Given the description of an element on the screen output the (x, y) to click on. 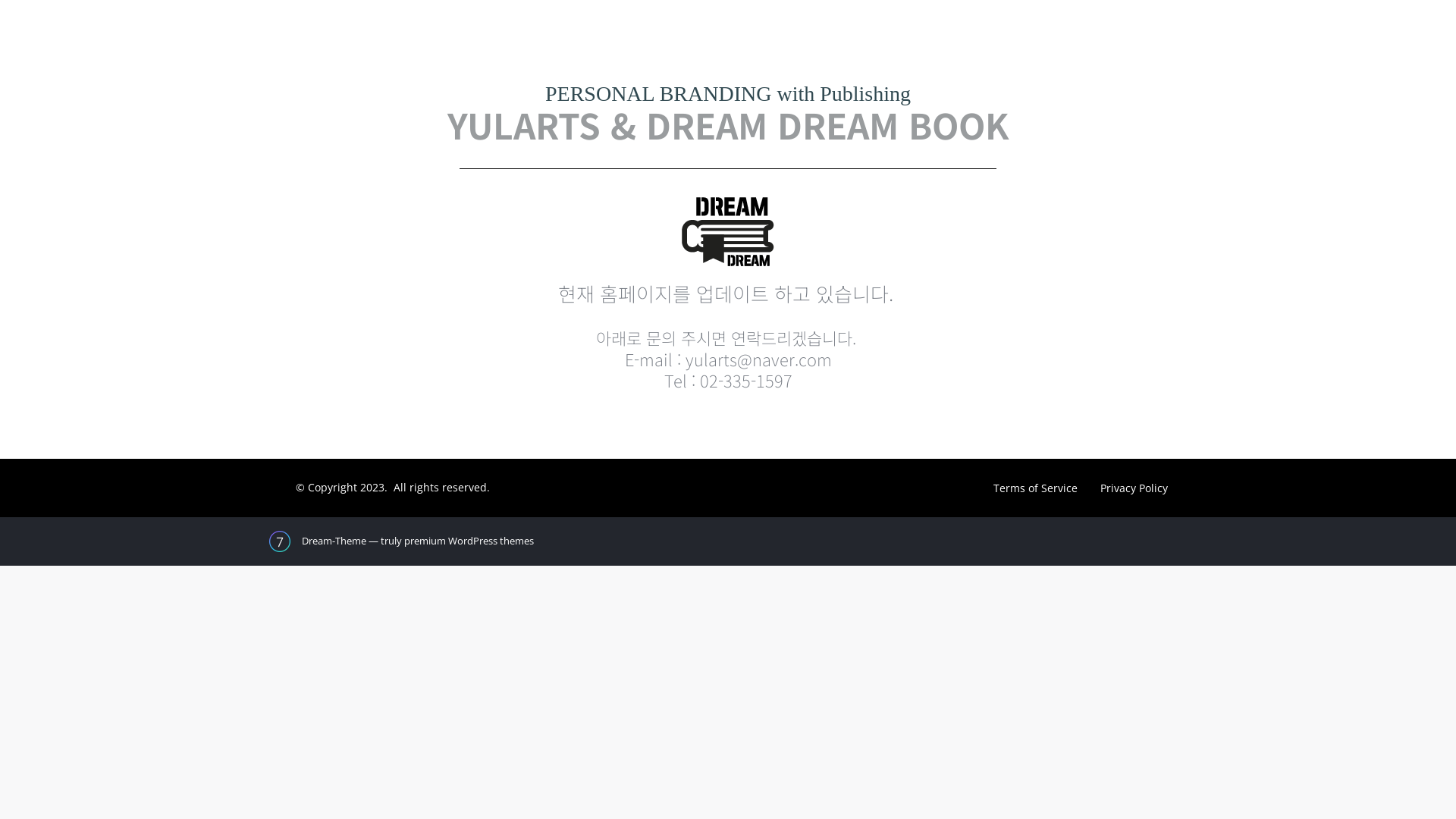
Terms of Service Element type: text (1035, 488)
premium WordPress themes Element type: text (468, 540)
Privacy Policy Element type: text (1133, 488)
